Given the description of an element on the screen output the (x, y) to click on. 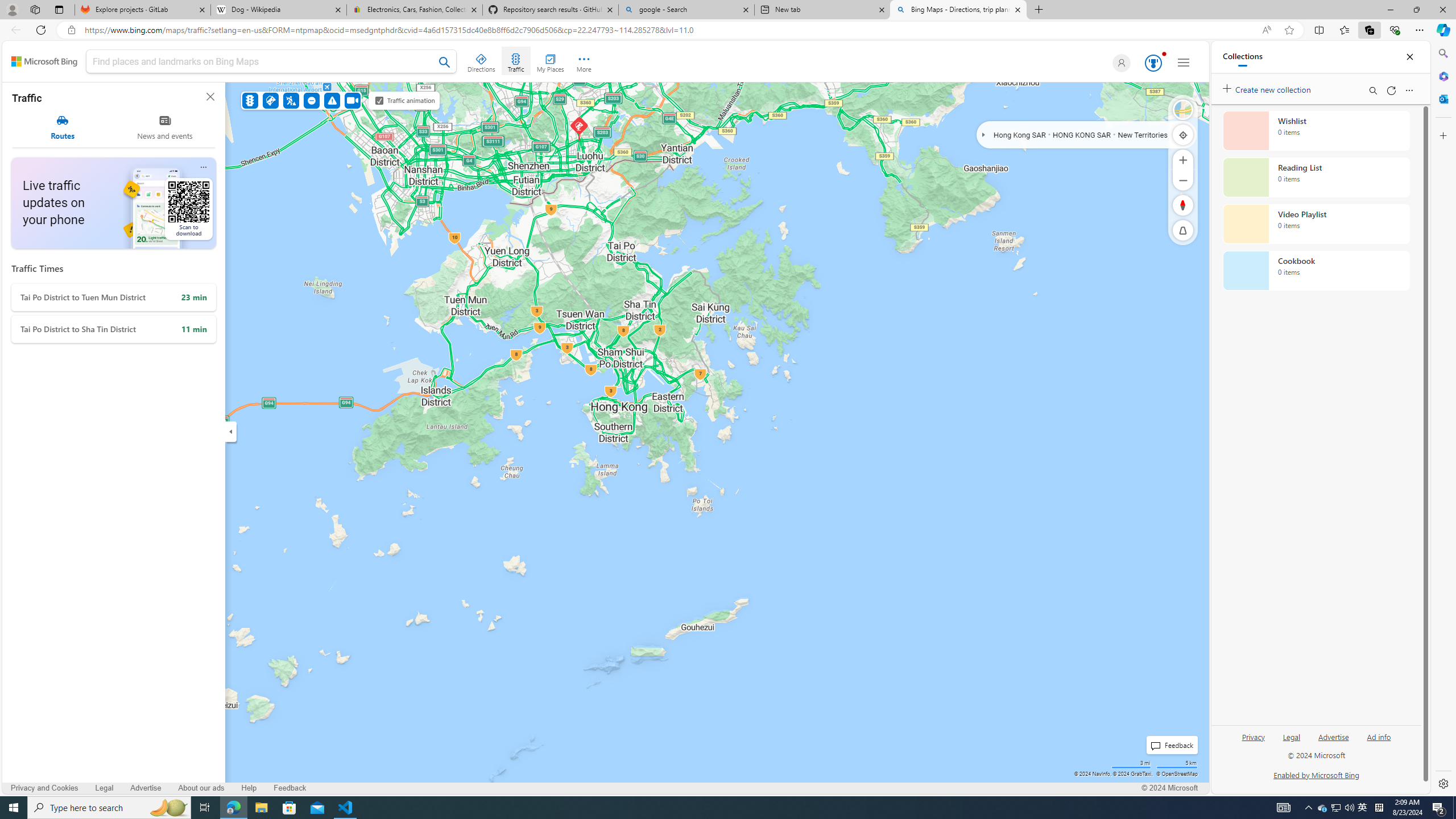
Reset to Default Pitch (1182, 230)
Ad info (1378, 736)
My Places (549, 60)
My Places (549, 60)
Ad info (1378, 741)
About our ads (200, 787)
Rotate Right (1171, 205)
Animation (1163, 53)
Cameras (353, 100)
Accidents (270, 100)
Outlook (1442, 98)
google - Search (685, 9)
